Given the description of an element on the screen output the (x, y) to click on. 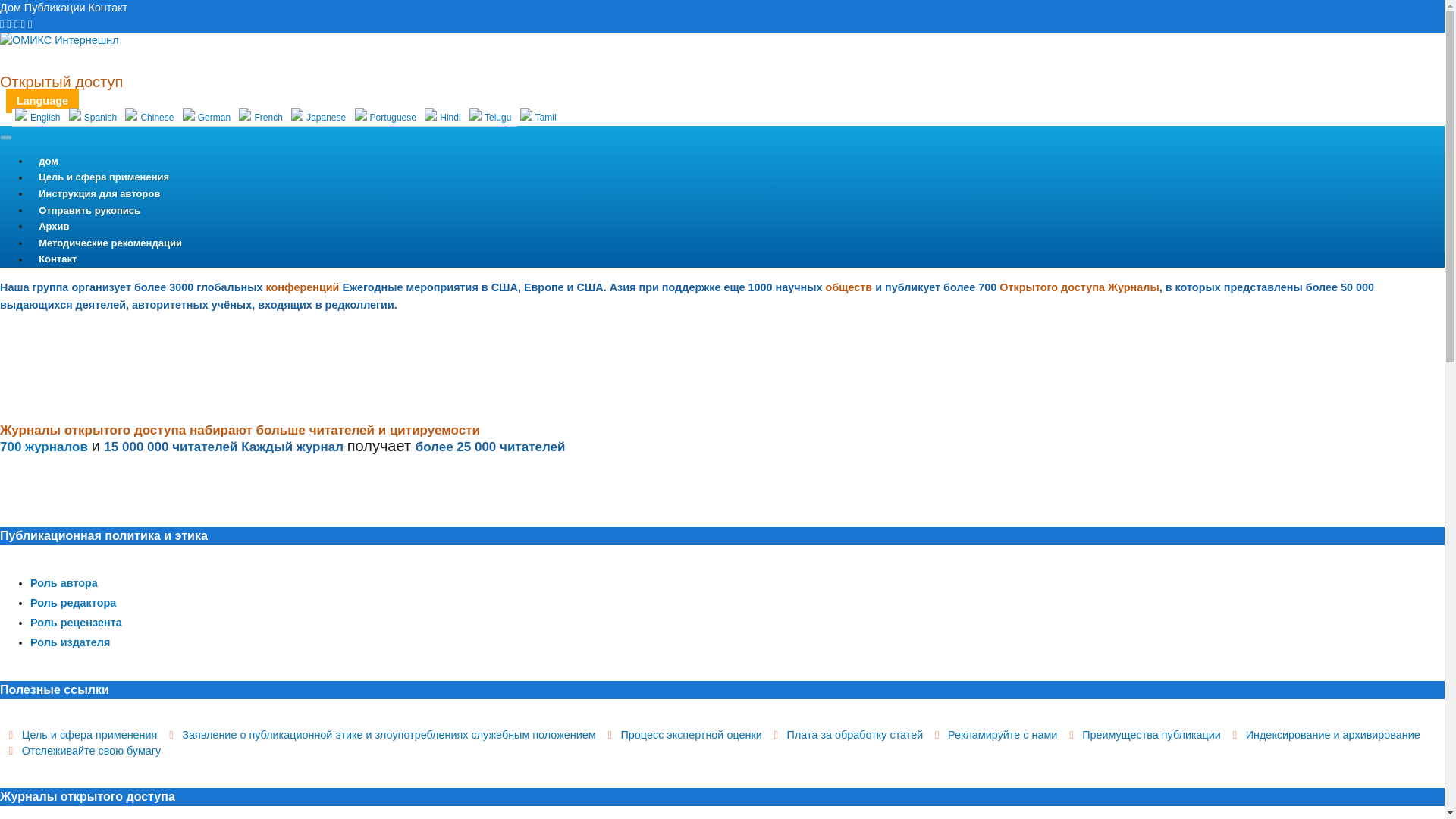
Portuguese (387, 117)
German (207, 117)
Tamil (537, 117)
Japanese (319, 117)
Japanese (319, 117)
Chinese (150, 117)
Language (41, 100)
Hindi (443, 117)
French (261, 117)
Omics Twitter (15, 24)
French (261, 117)
English (38, 117)
Omics Slideshare (22, 24)
Telugu (490, 117)
Tamil (537, 117)
